Given the description of an element on the screen output the (x, y) to click on. 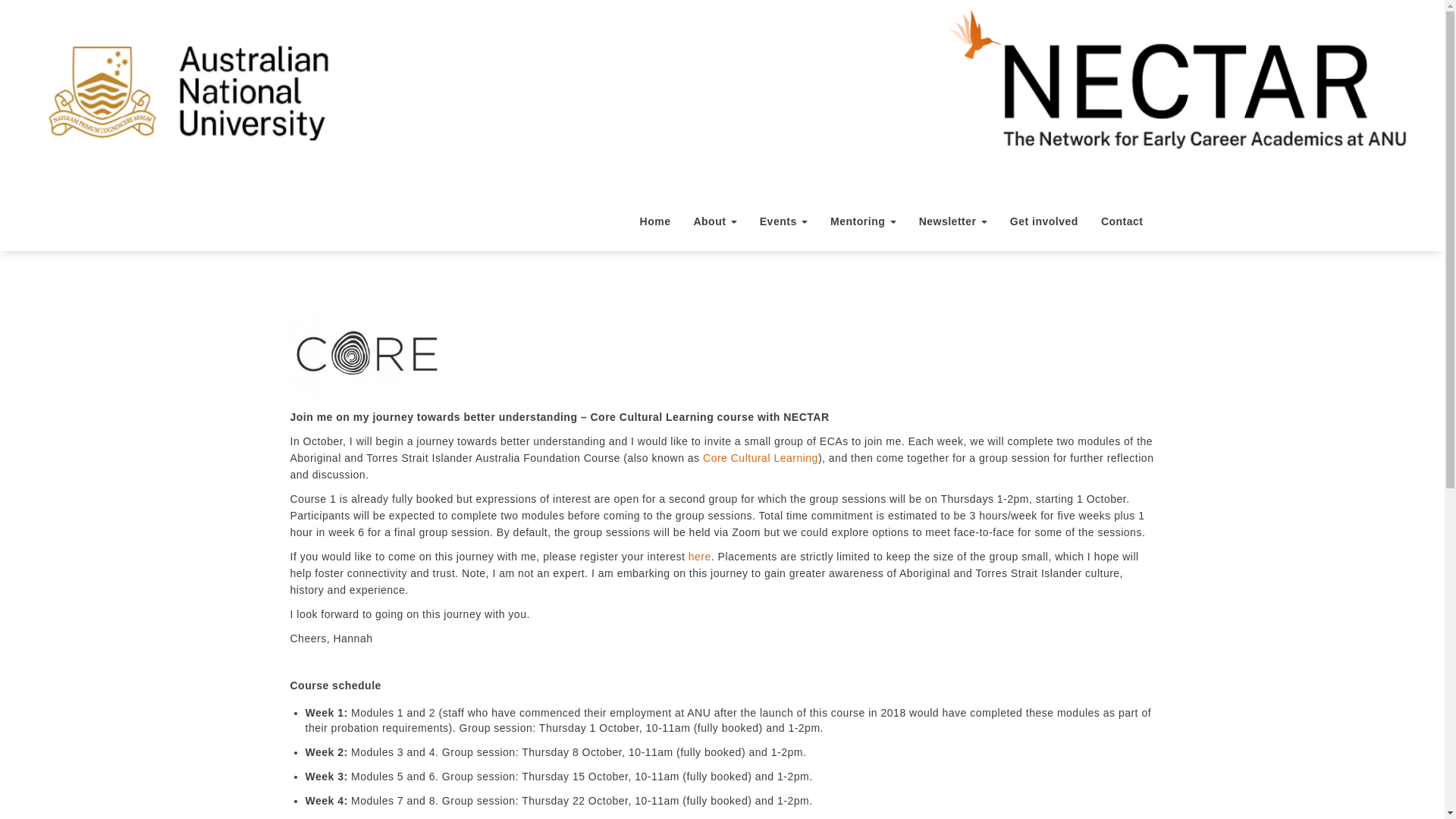
Contact (1121, 221)
Mentoring (862, 221)
Core Cultural Learning (760, 458)
About (714, 221)
Events (783, 221)
Get involved (1043, 221)
Home (655, 221)
Newsletter (952, 221)
here (699, 556)
